Given the description of an element on the screen output the (x, y) to click on. 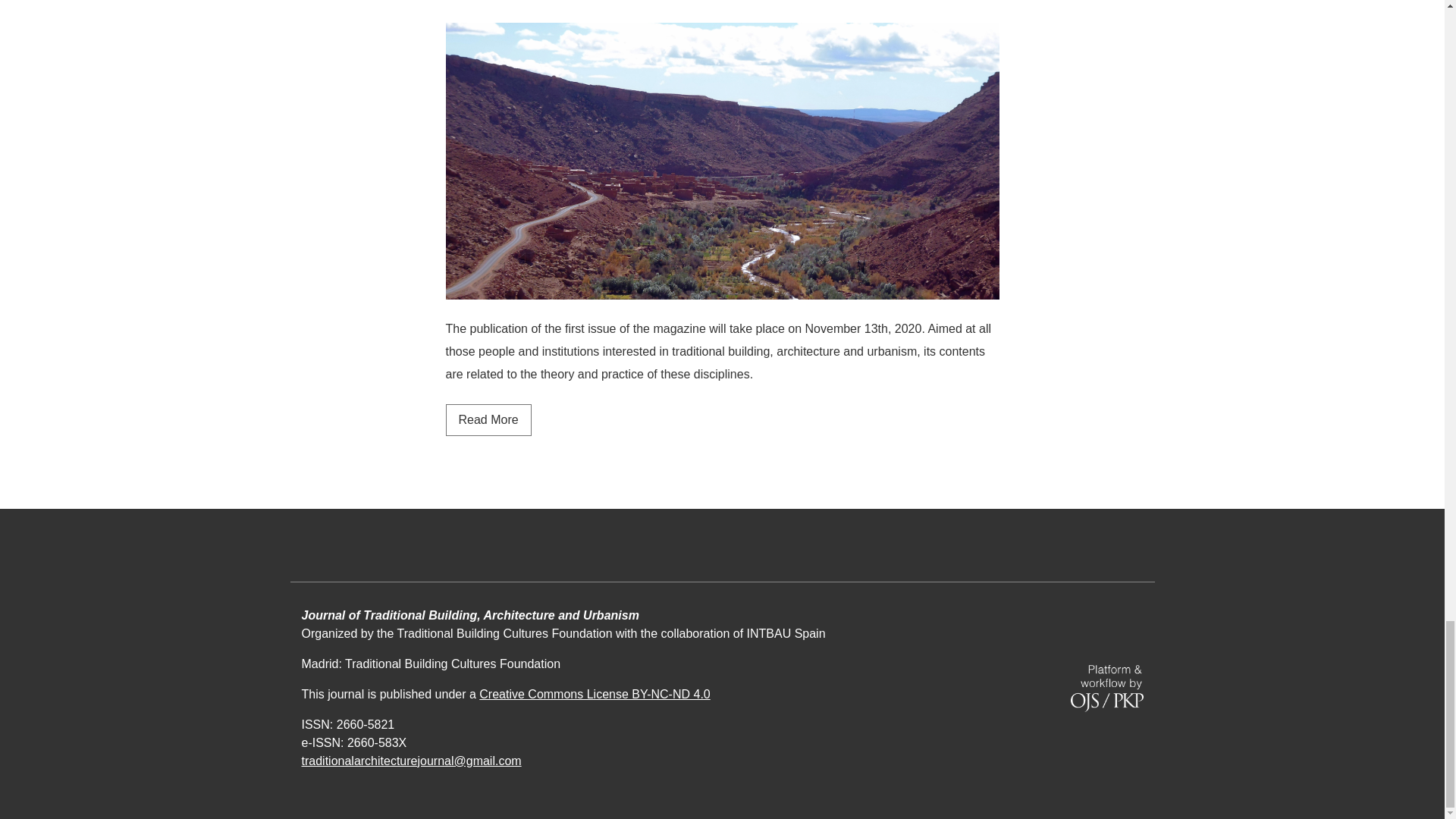
Creative Commons License BY-NC-ND 4.0 (488, 419)
